Given the description of an element on the screen output the (x, y) to click on. 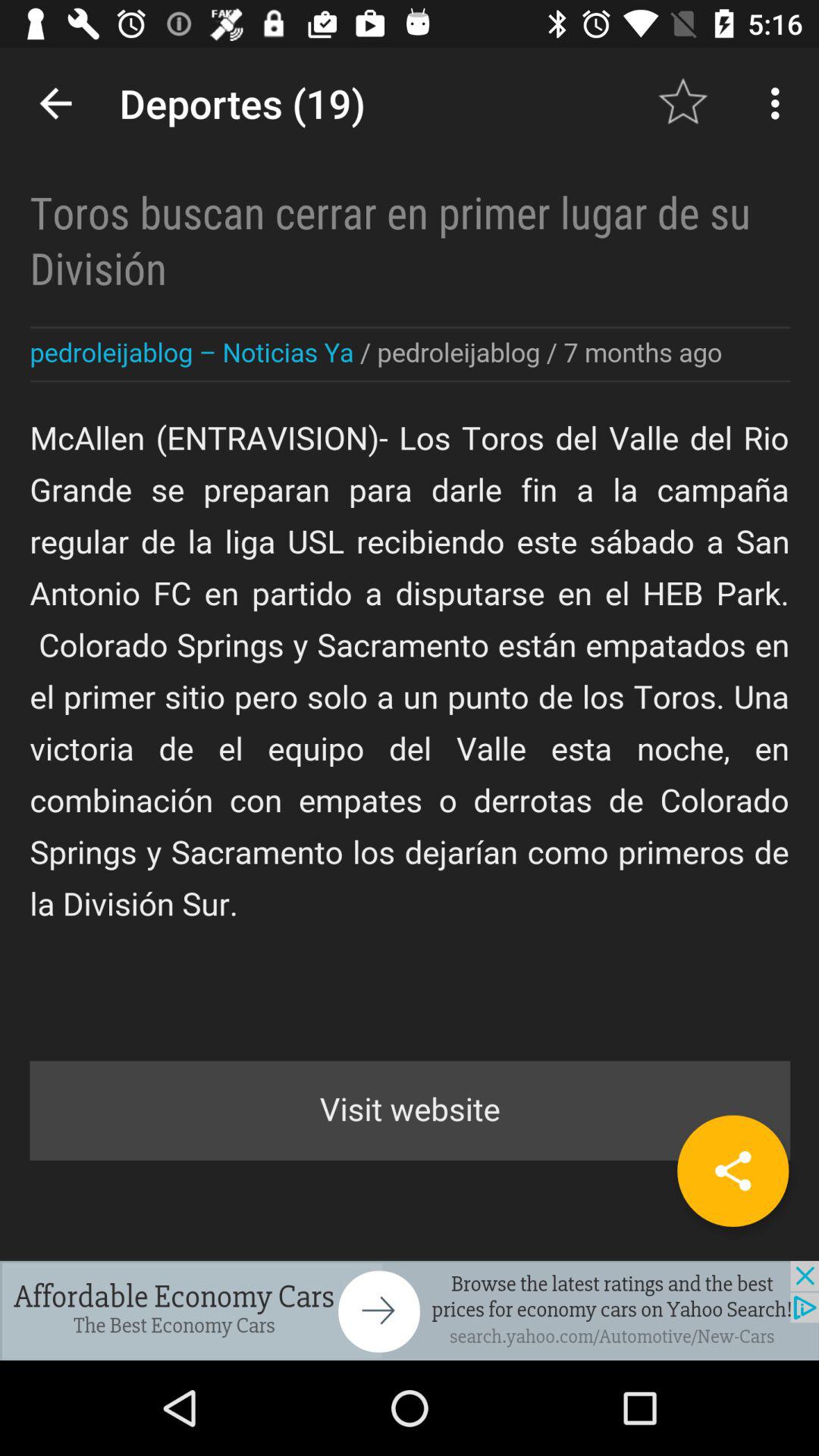
add the option (409, 1310)
